Given the description of an element on the screen output the (x, y) to click on. 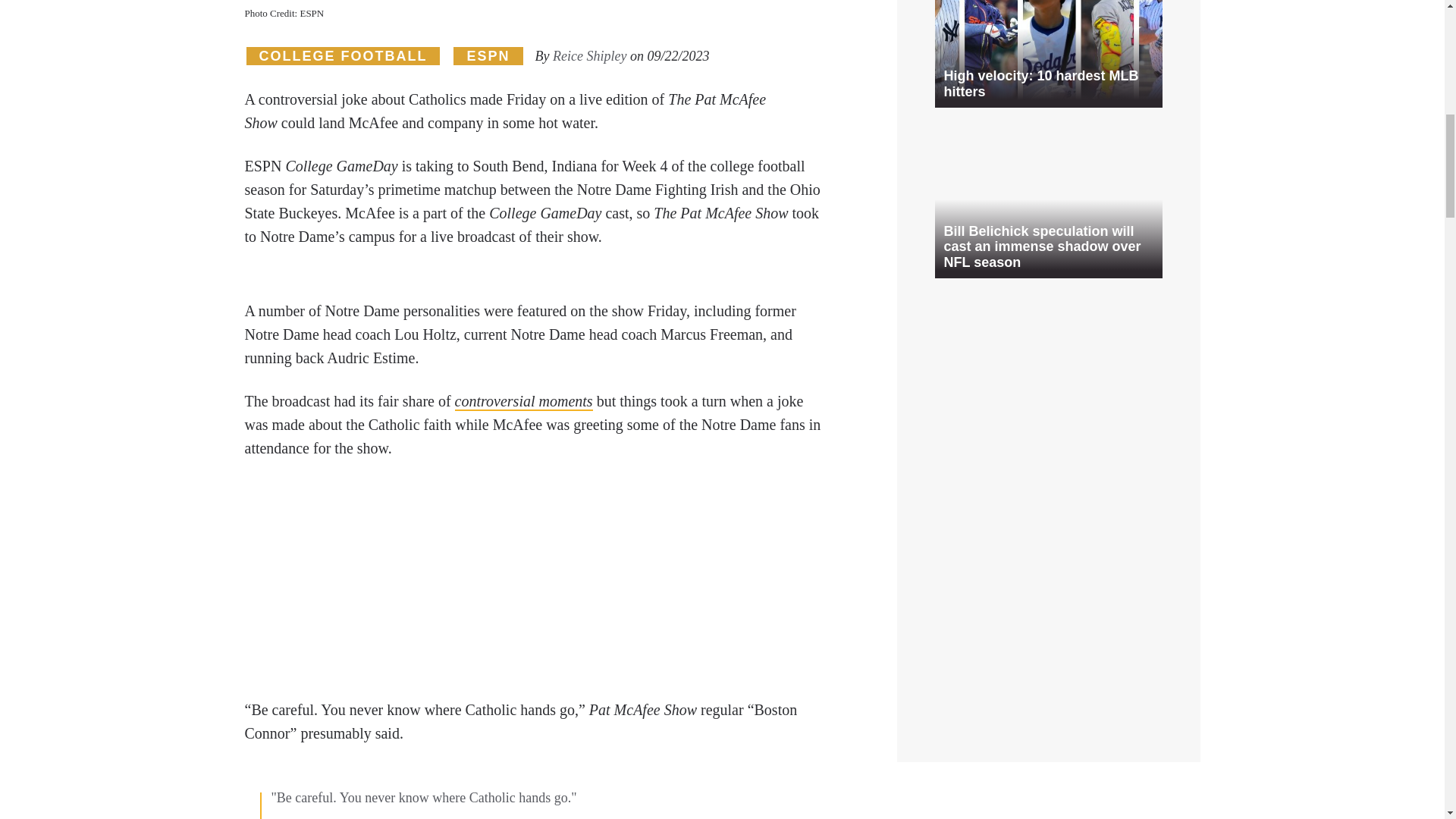
View all posts in ESPN (487, 56)
View all posts in College Football (342, 56)
